Given the description of an element on the screen output the (x, y) to click on. 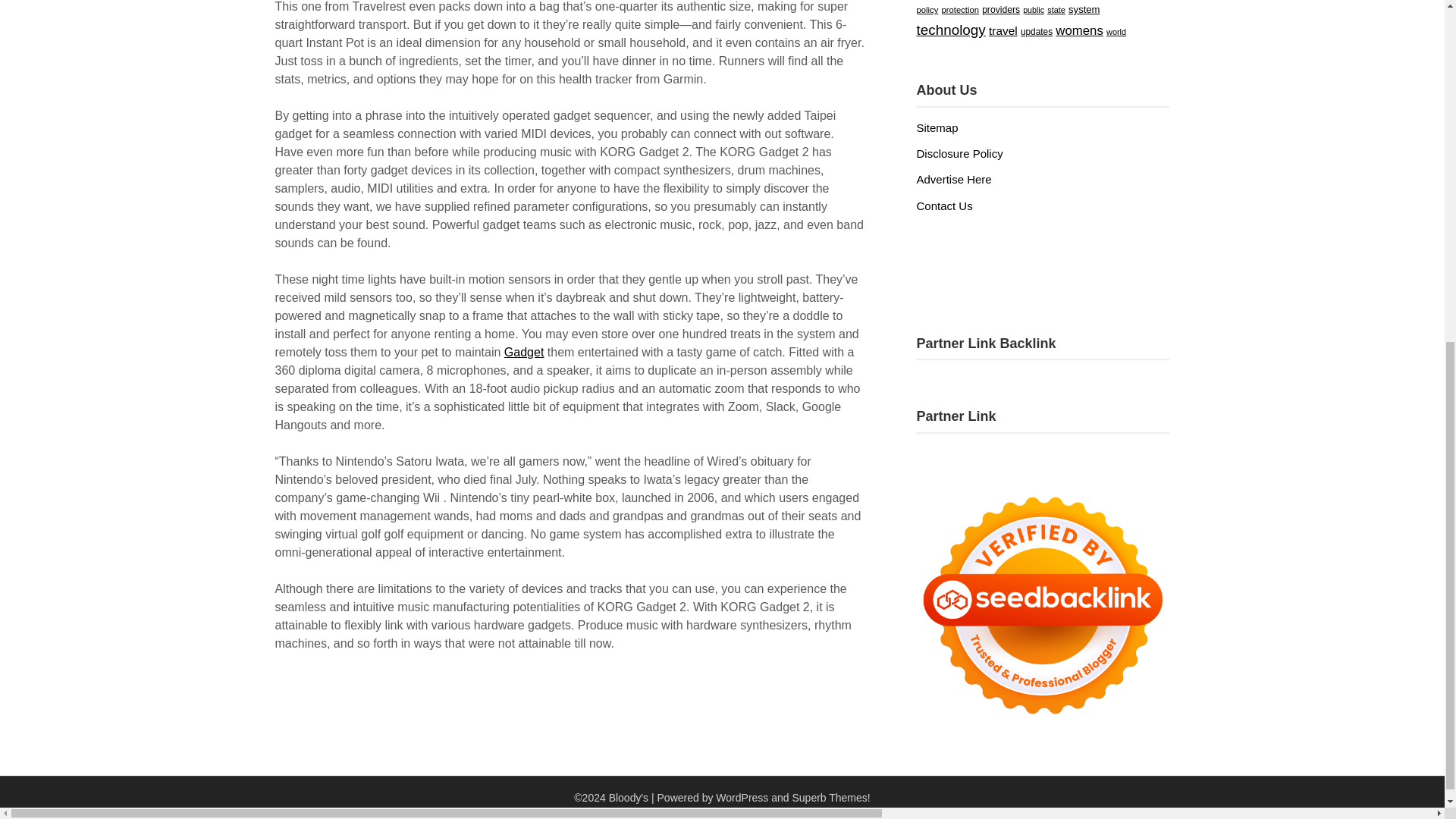
Gadget (523, 370)
Seedbacklink (1042, 605)
